Given the description of an element on the screen output the (x, y) to click on. 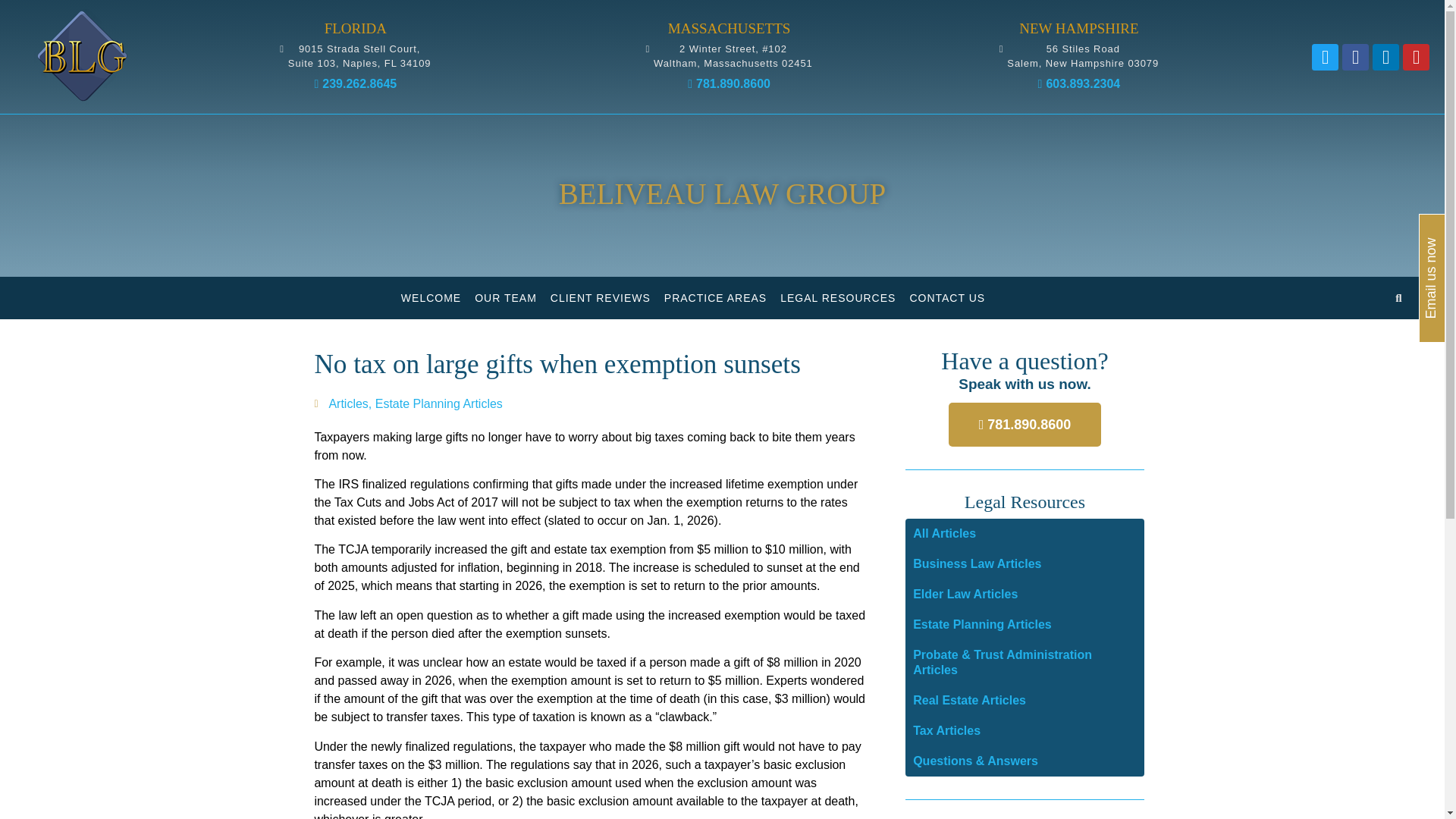
781.890.8600 (728, 82)
239.262.8645 (355, 82)
PRACTICE AREAS (715, 297)
CLIENT REVIEWS (600, 297)
WELCOME (431, 297)
CONTACT US (946, 297)
OUR TEAM (505, 297)
LEGAL RESOURCES (1078, 55)
